Given the description of an element on the screen output the (x, y) to click on. 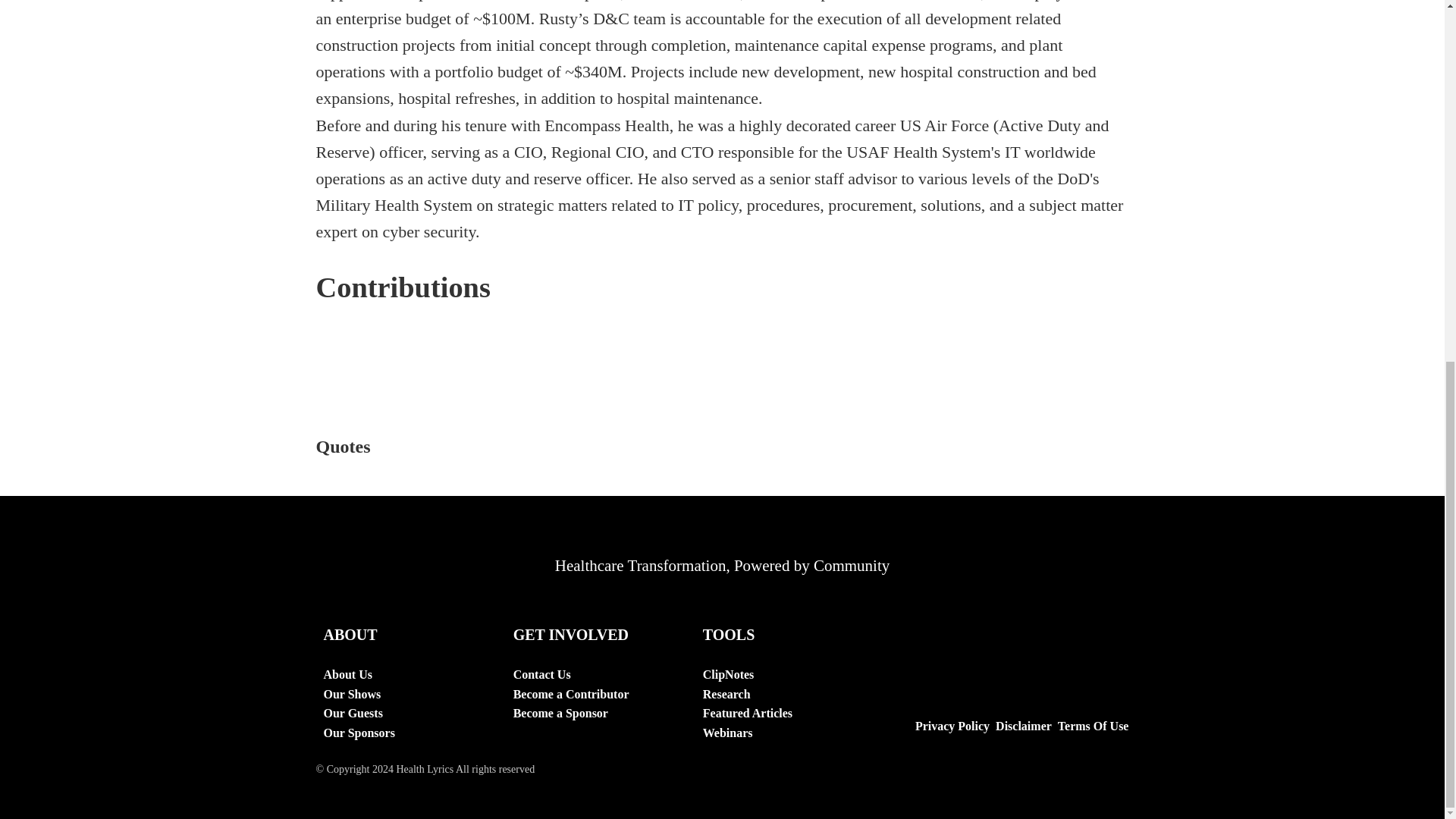
Webinars (747, 732)
ClipNotes (747, 674)
Disclaimer (1020, 726)
Research (747, 694)
Our Shows (358, 694)
Become a Contributor (570, 694)
Become a Sponsor (570, 713)
Featured Articles (747, 713)
Our Guests (358, 713)
Privacy Policy (949, 726)
About Us (358, 674)
Our Sponsors (358, 732)
Contact Us (570, 674)
Terms Of Use (1090, 726)
